Given the description of an element on the screen output the (x, y) to click on. 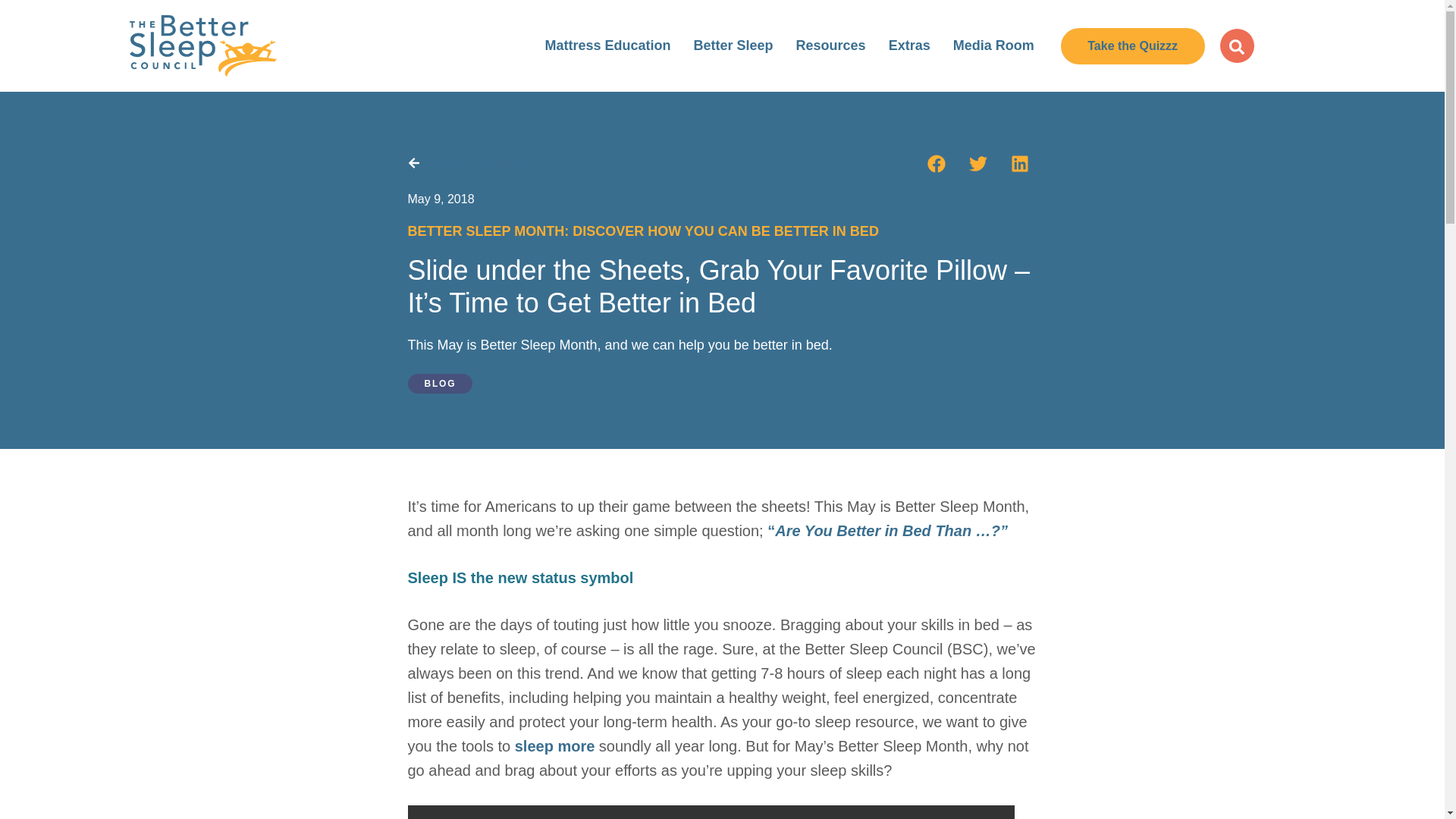
Mattress Education (606, 45)
Better Sleep (733, 45)
Resources (830, 45)
Extras (909, 45)
